Given the description of an element on the screen output the (x, y) to click on. 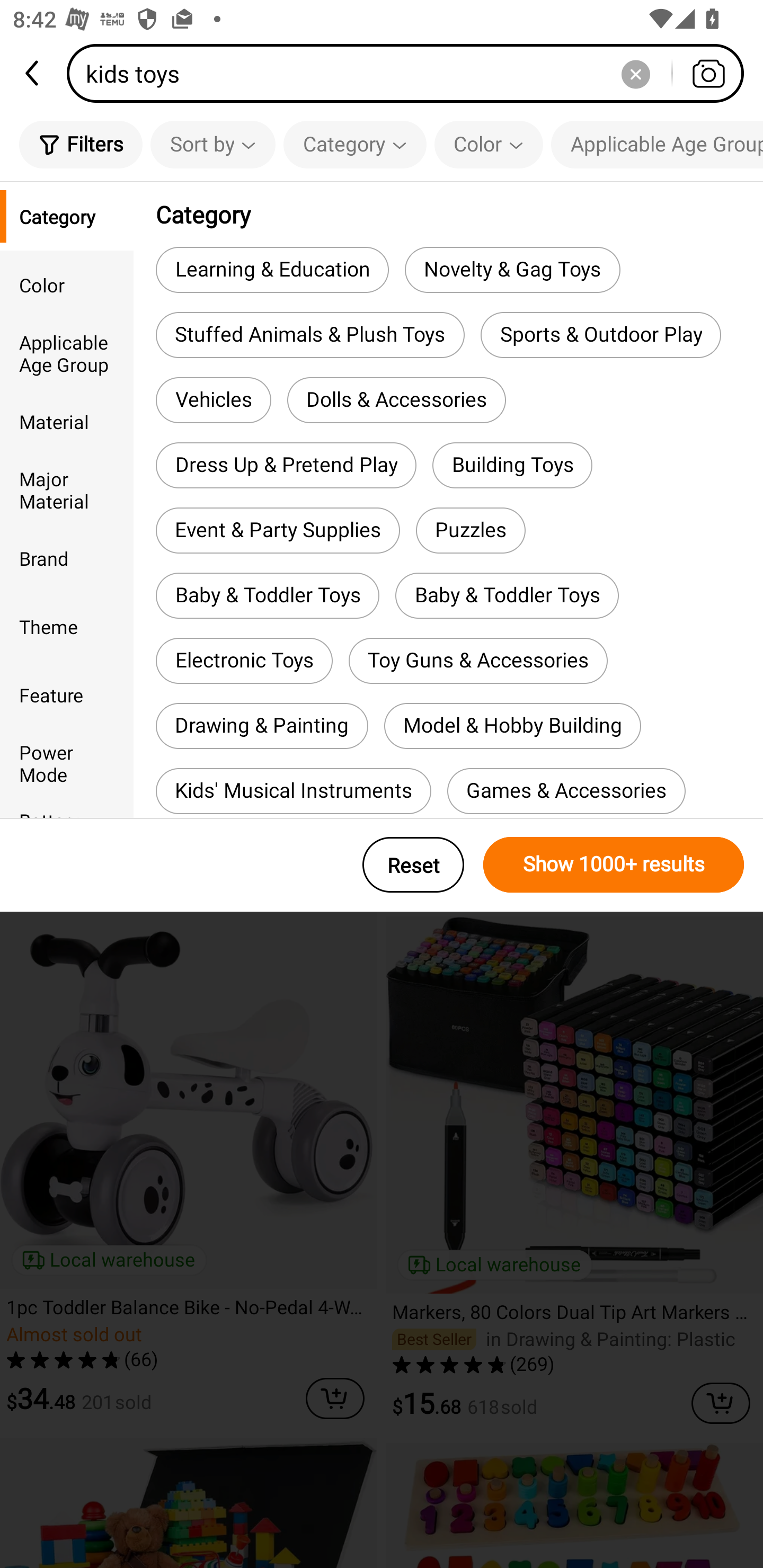
back (33, 72)
kids toys (411, 73)
Delete search history (635, 73)
Search by photo (708, 73)
Filters (80, 143)
Sort by (212, 143)
Category (354, 143)
Color (488, 143)
Applicable Age Group (656, 143)
Category (66, 215)
Learning & Education (272, 269)
Novelty & Gag Toys (512, 269)
Color (66, 284)
Stuffed Animals & Plush Toys (309, 334)
Sports & Outdoor Play (600, 334)
Applicable Age Group (66, 352)
Vehicles (213, 400)
Dolls & Accessories (395, 400)
Material (66, 421)
Dress Up & Pretend Play (285, 464)
Building Toys (512, 464)
Major Material (66, 489)
Event & Party Supplies (277, 530)
Puzzles (470, 530)
Brand (66, 557)
Baby & Toddler Toys (267, 595)
Baby & Toddler Toys (506, 595)
Theme (66, 626)
Electronic Toys (243, 660)
Toy Guns & Accessories (478, 660)
Feature (66, 694)
Drawing & Painting (261, 725)
Model & Hobby Building (511, 725)
Power Mode (66, 762)
Kids' Musical Instruments (293, 790)
Games & Accessories (566, 790)
Reset (412, 864)
Show 1000+ results (612, 864)
